Given the description of an element on the screen output the (x, y) to click on. 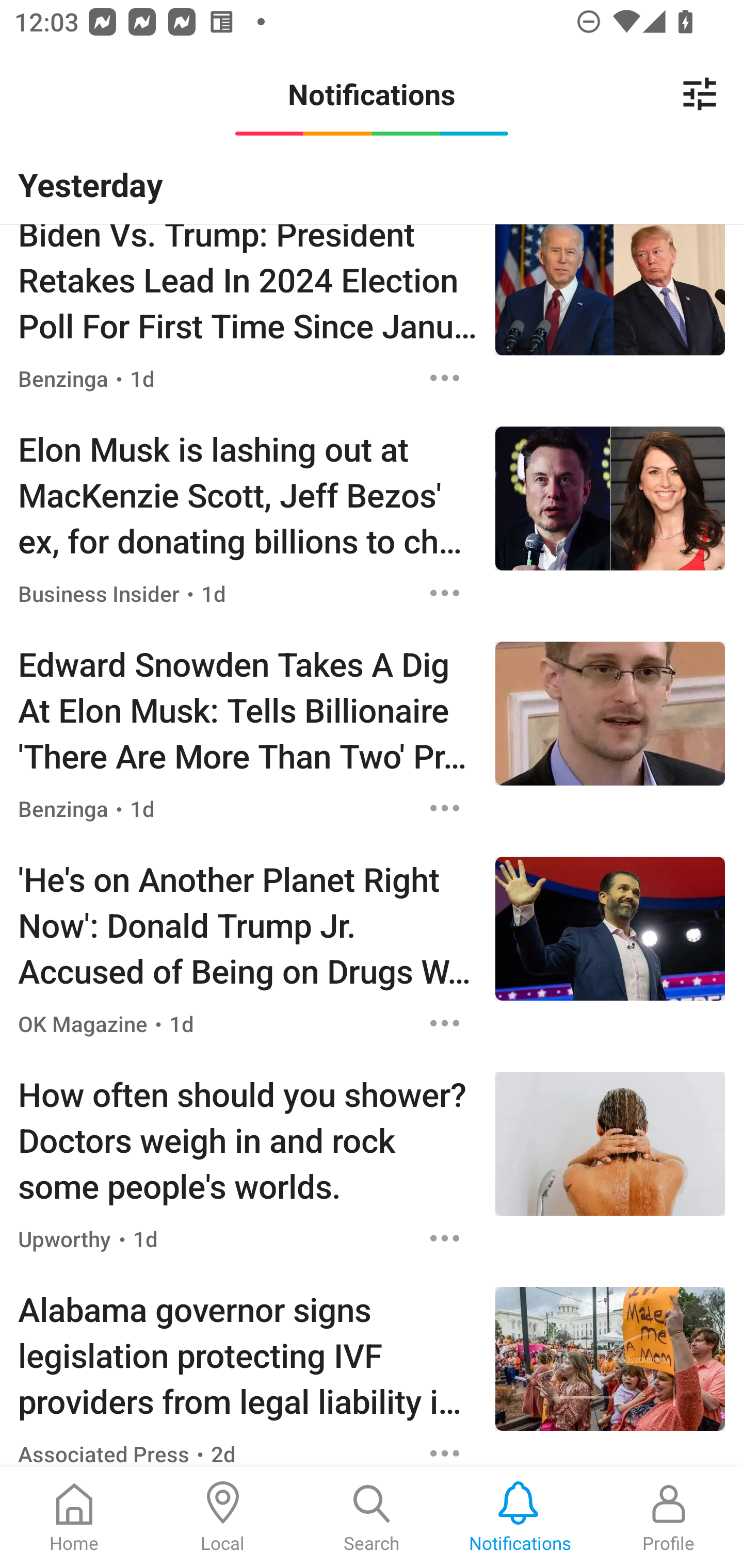
Notification Settings (699, 93)
Options (444, 377)
Options (444, 592)
Options (444, 808)
Options (444, 1022)
Options (444, 1238)
Options (444, 1449)
Home (74, 1517)
Local (222, 1517)
Search (371, 1517)
Profile (668, 1517)
